Given the description of an element on the screen output the (x, y) to click on. 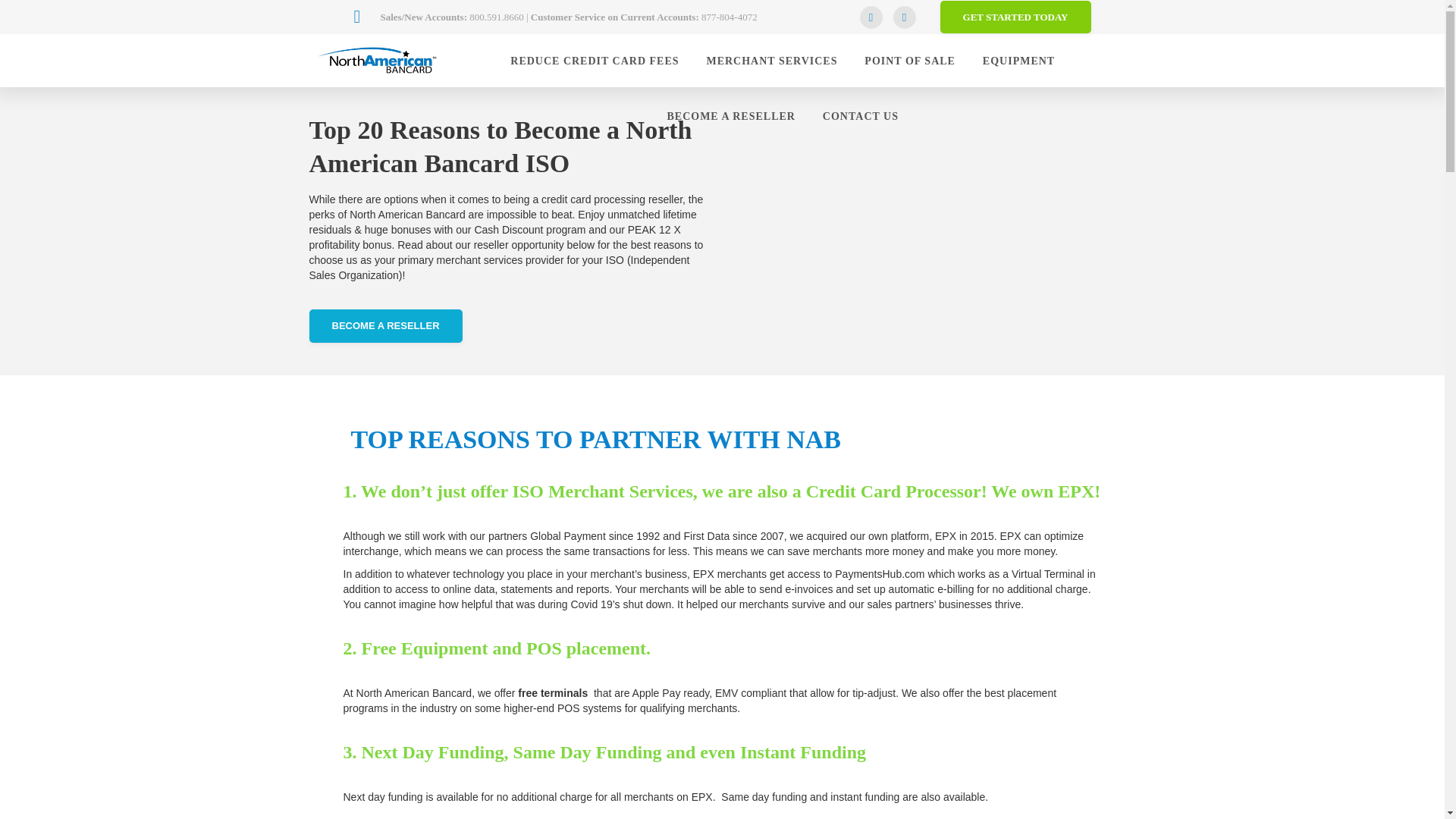
MERCHANT SERVICES (771, 60)
REDUCE CREDIT CARD FEES (594, 60)
GET STARTED TODAY (1015, 17)
EQUIPMENT (1018, 60)
POINT OF SALE (909, 60)
